Given the description of an element on the screen output the (x, y) to click on. 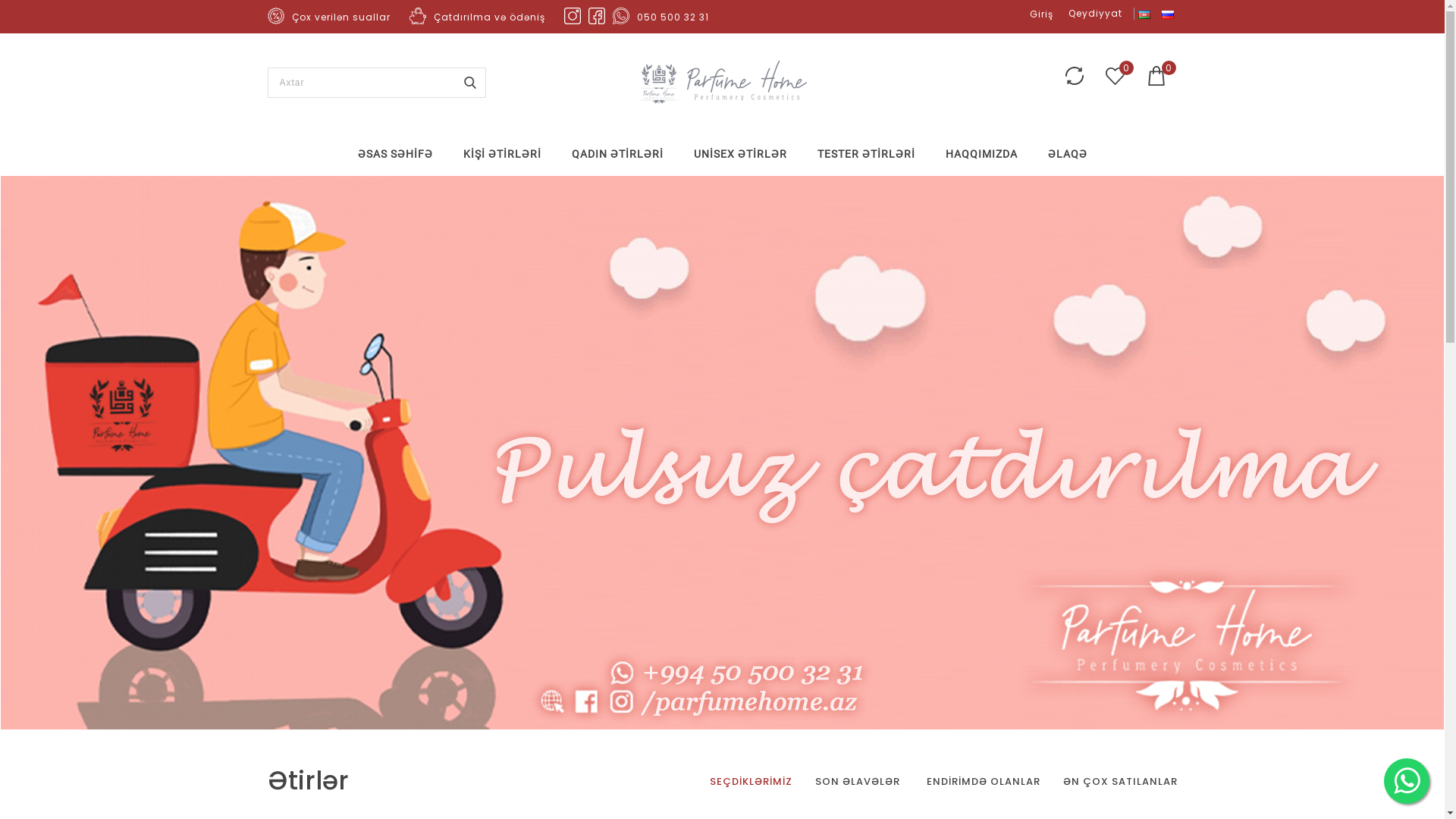
Russian Element type: hover (1167, 14)
050 500 32 31 Element type: text (673, 16)
0 Element type: text (1114, 75)
Go Element type: text (470, 82)
Qeydiyyat Element type: text (1095, 13)
HAQQIMIZDA Element type: text (980, 153)
0 Element type: text (1156, 72)
